Given the description of an element on the screen output the (x, y) to click on. 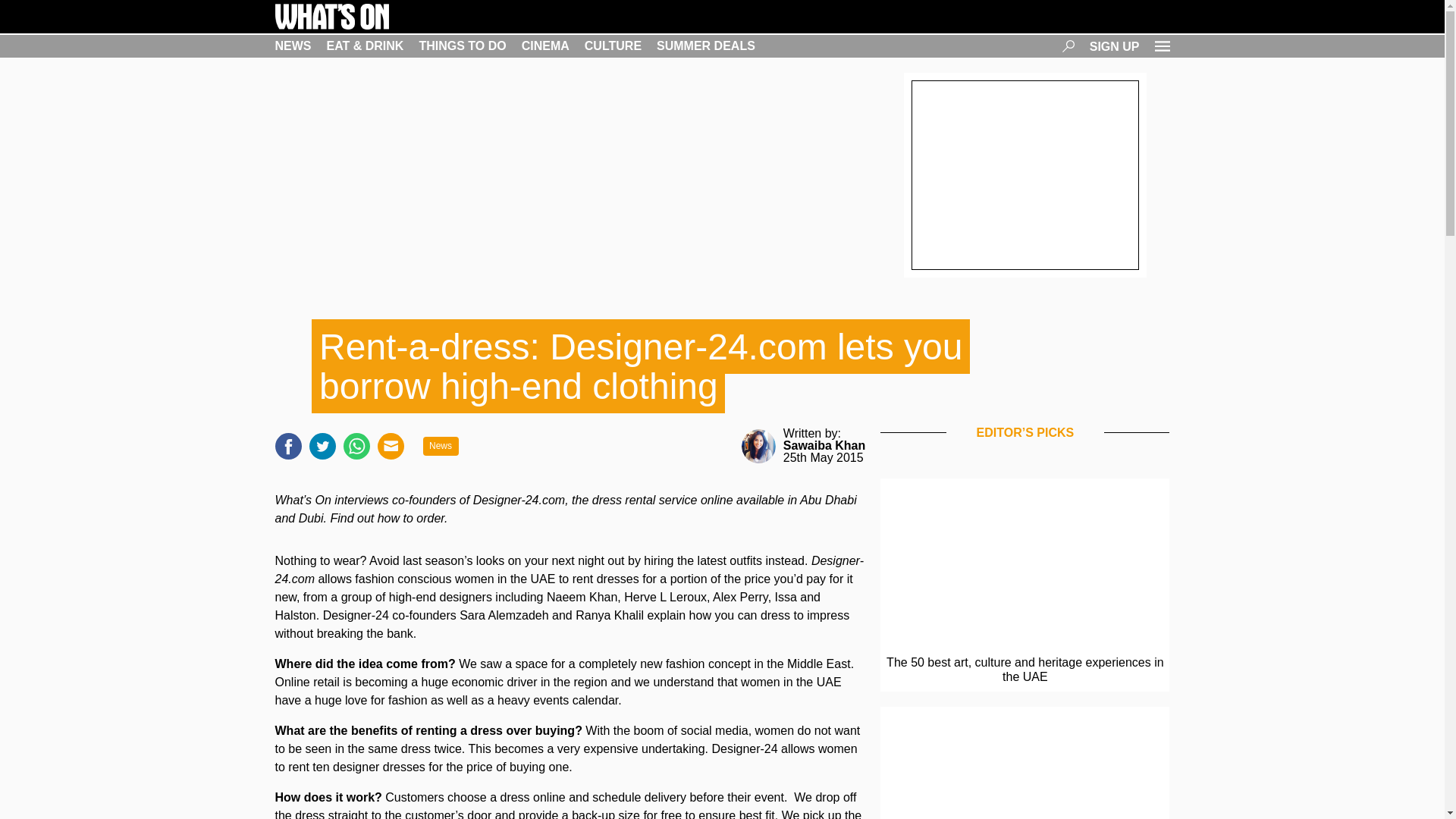
CULTURE (613, 45)
SIGN UP (1114, 45)
THINGS TO DO (462, 45)
NEWS (293, 45)
SUMMER DEALS (705, 45)
CINEMA (545, 45)
